Given the description of an element on the screen output the (x, y) to click on. 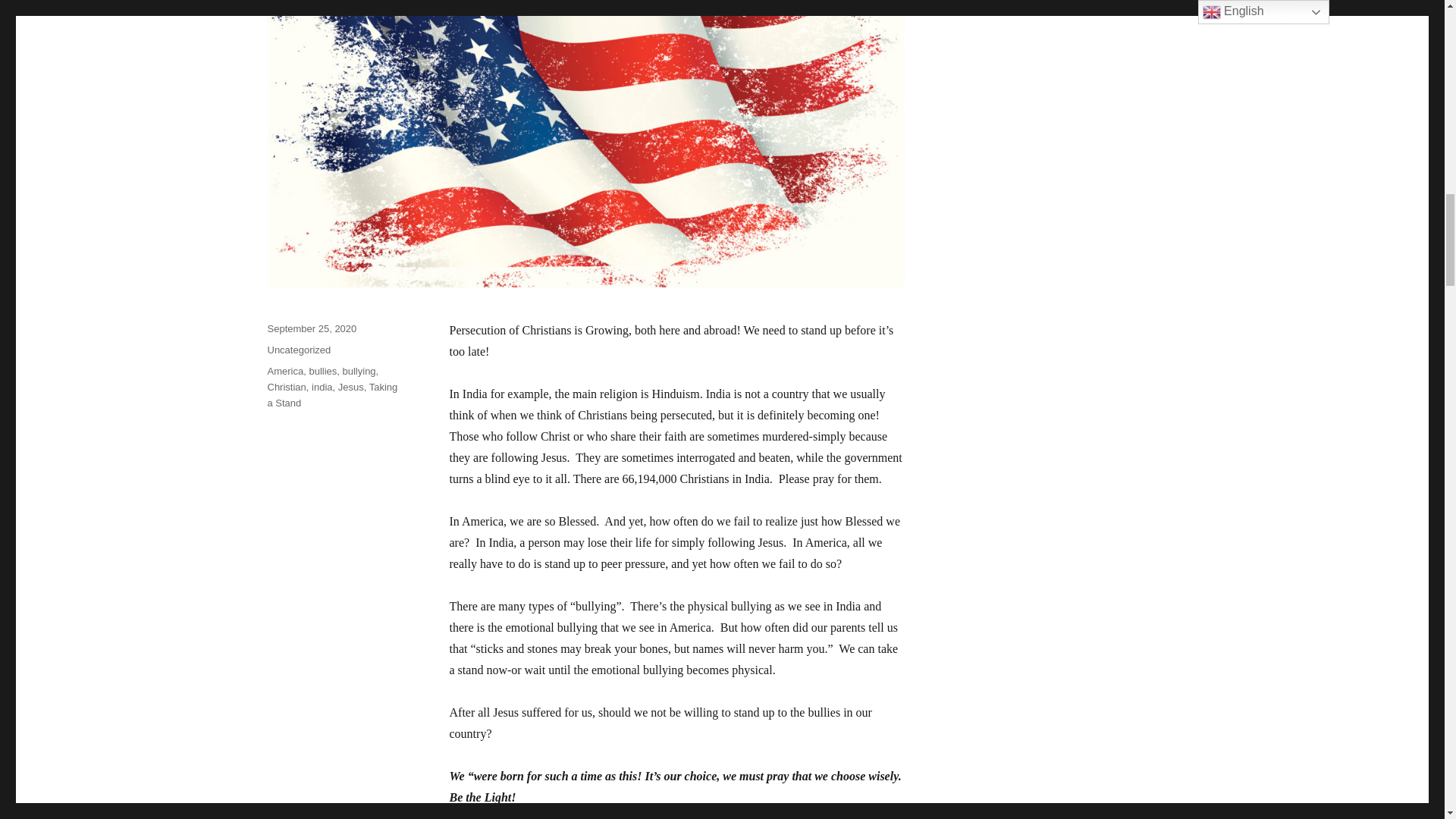
September 25, 2020 (311, 328)
